Given the description of an element on the screen output the (x, y) to click on. 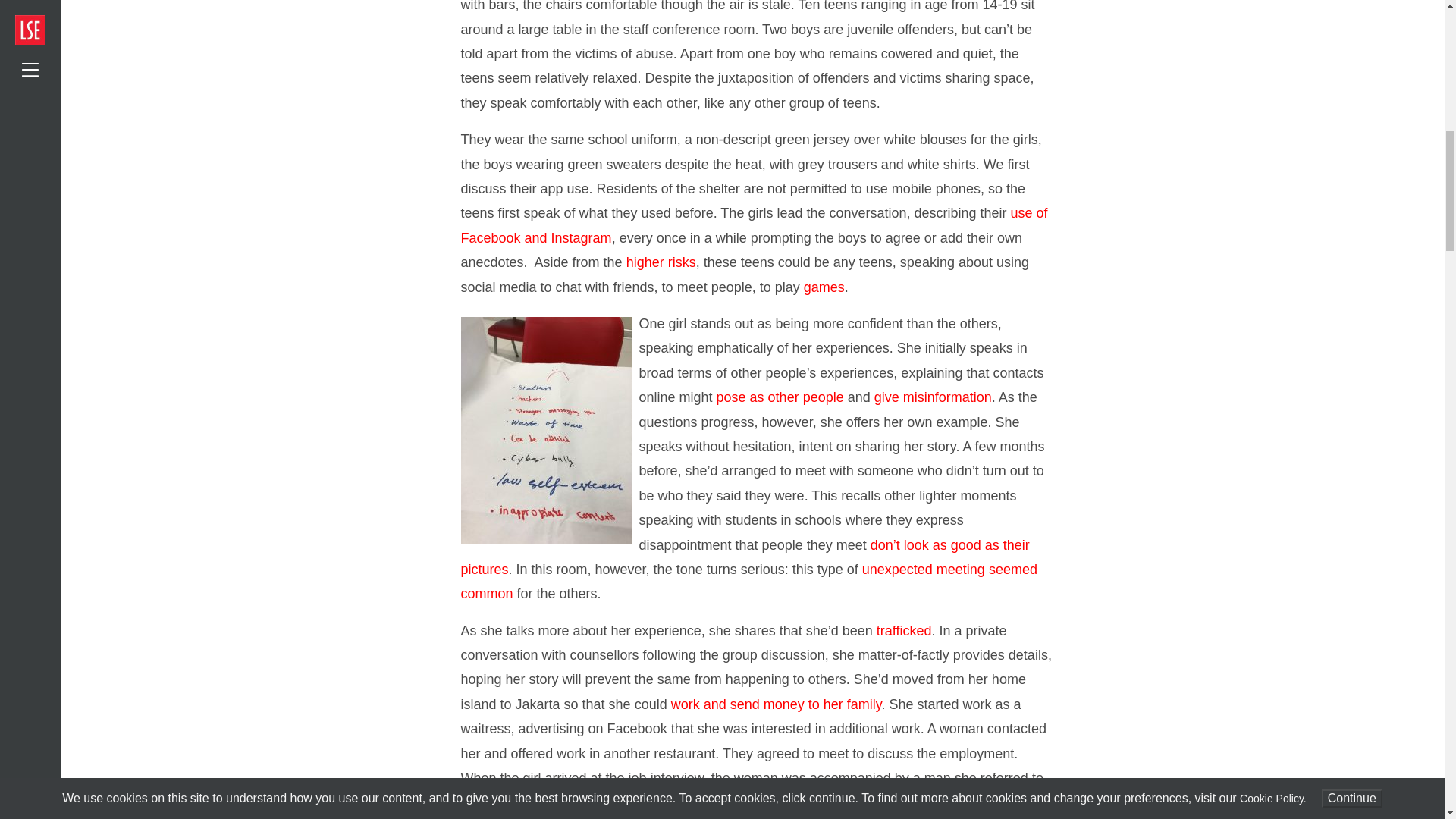
games (823, 287)
give (888, 396)
higher risks (660, 262)
pose as other people (780, 396)
misinformation (946, 396)
use of Facebook and Instagram (754, 224)
